Given the description of an element on the screen output the (x, y) to click on. 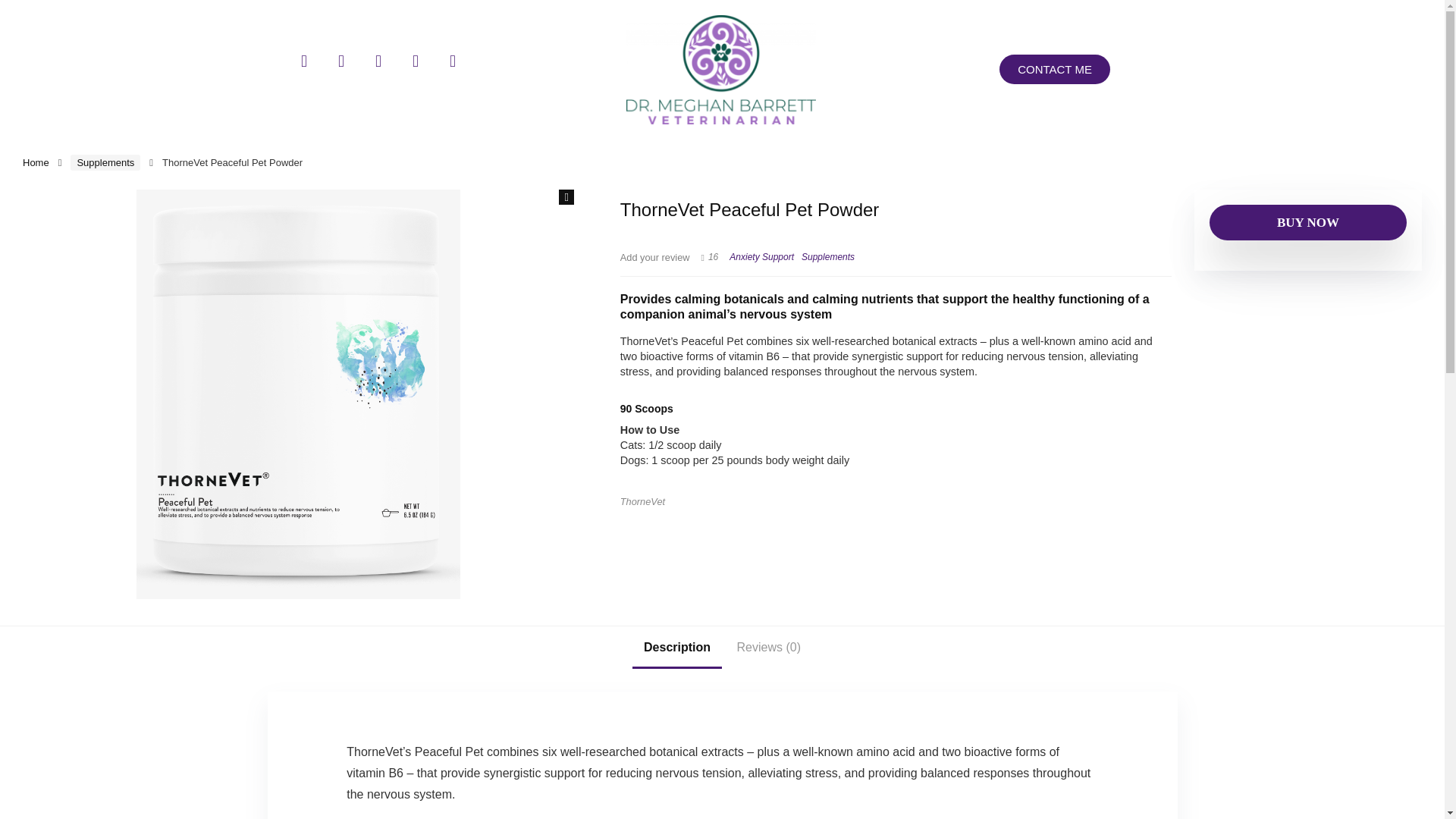
Anxiety Support (761, 256)
Supplements (828, 256)
Home (36, 162)
CONTACT ME (1053, 69)
View all posts in Anxiety Support (761, 256)
BUY NOW (1307, 222)
View all posts in Supplements (828, 256)
Supplements (104, 162)
ThorneVet (642, 501)
Add your review (655, 256)
